Given the description of an element on the screen output the (x, y) to click on. 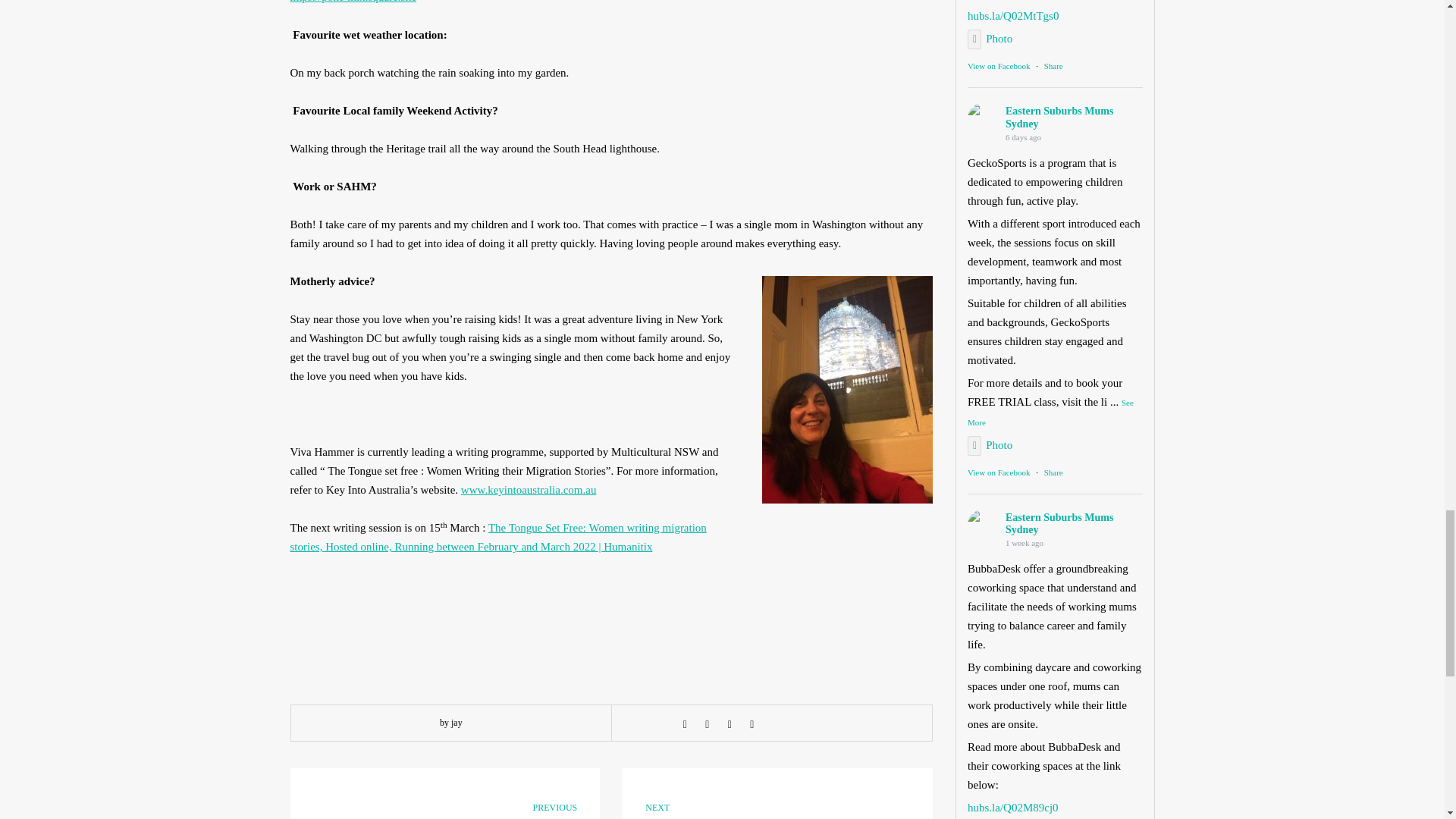
Share this (684, 724)
Share with Google Plus (729, 724)
Pin this (751, 724)
Tweet this (707, 724)
View on Facebook (998, 65)
Share (1052, 65)
